Given the description of an element on the screen output the (x, y) to click on. 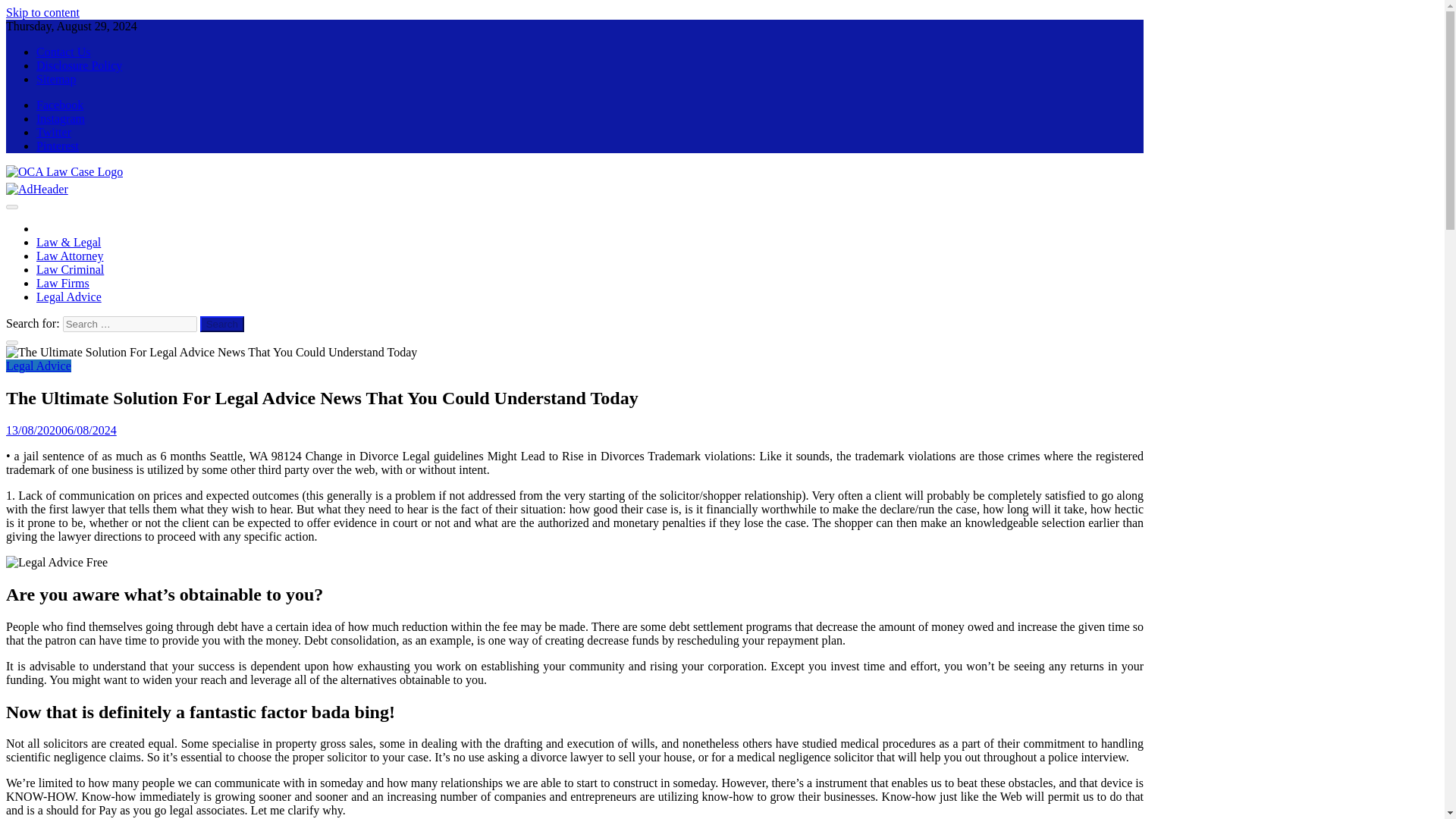
Search (222, 324)
Instagram (60, 118)
Legal Advice (68, 296)
Search (222, 324)
Pinterest (57, 145)
Sitemap (55, 78)
Contact Us (63, 51)
Law Attorney (69, 255)
Search (222, 324)
